Given the description of an element on the screen output the (x, y) to click on. 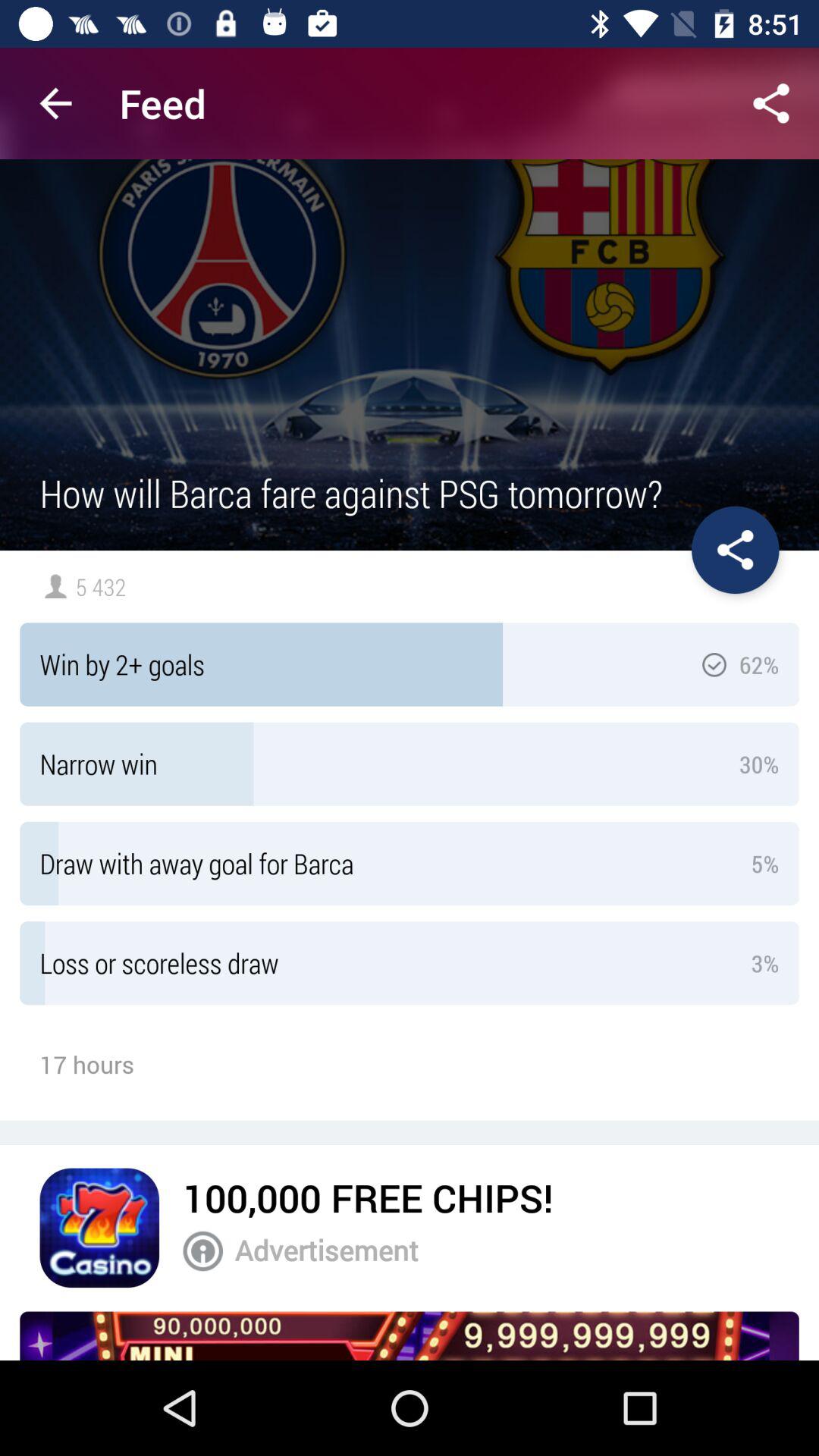
toggle interface (735, 549)
